Given the description of an element on the screen output the (x, y) to click on. 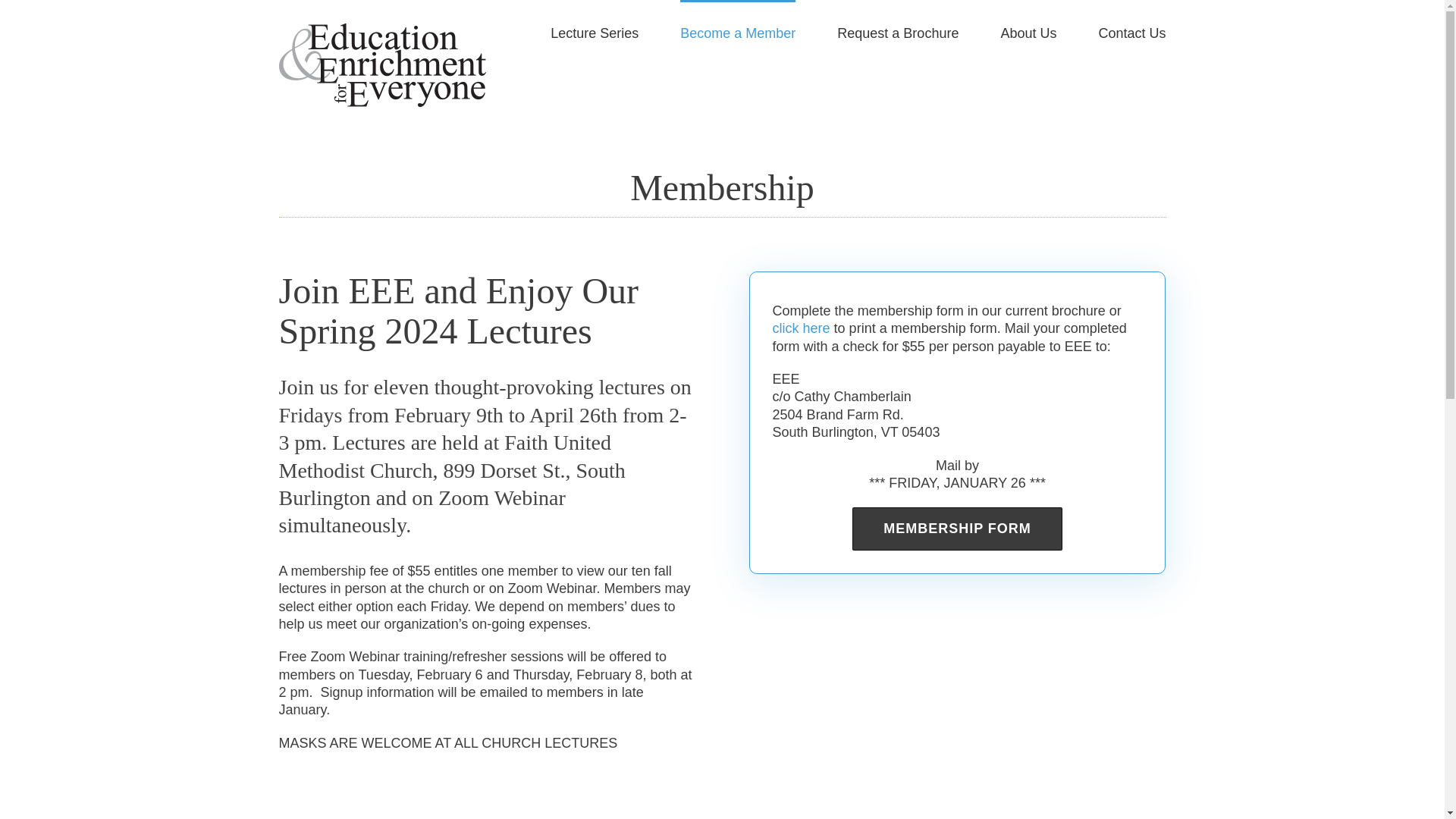
Request a Brochure (897, 31)
Lecture Series (594, 31)
MEMBERSHIP FORM (956, 528)
Contact Us (1131, 31)
Become a Member (736, 31)
click here (801, 328)
